Given the description of an element on the screen output the (x, y) to click on. 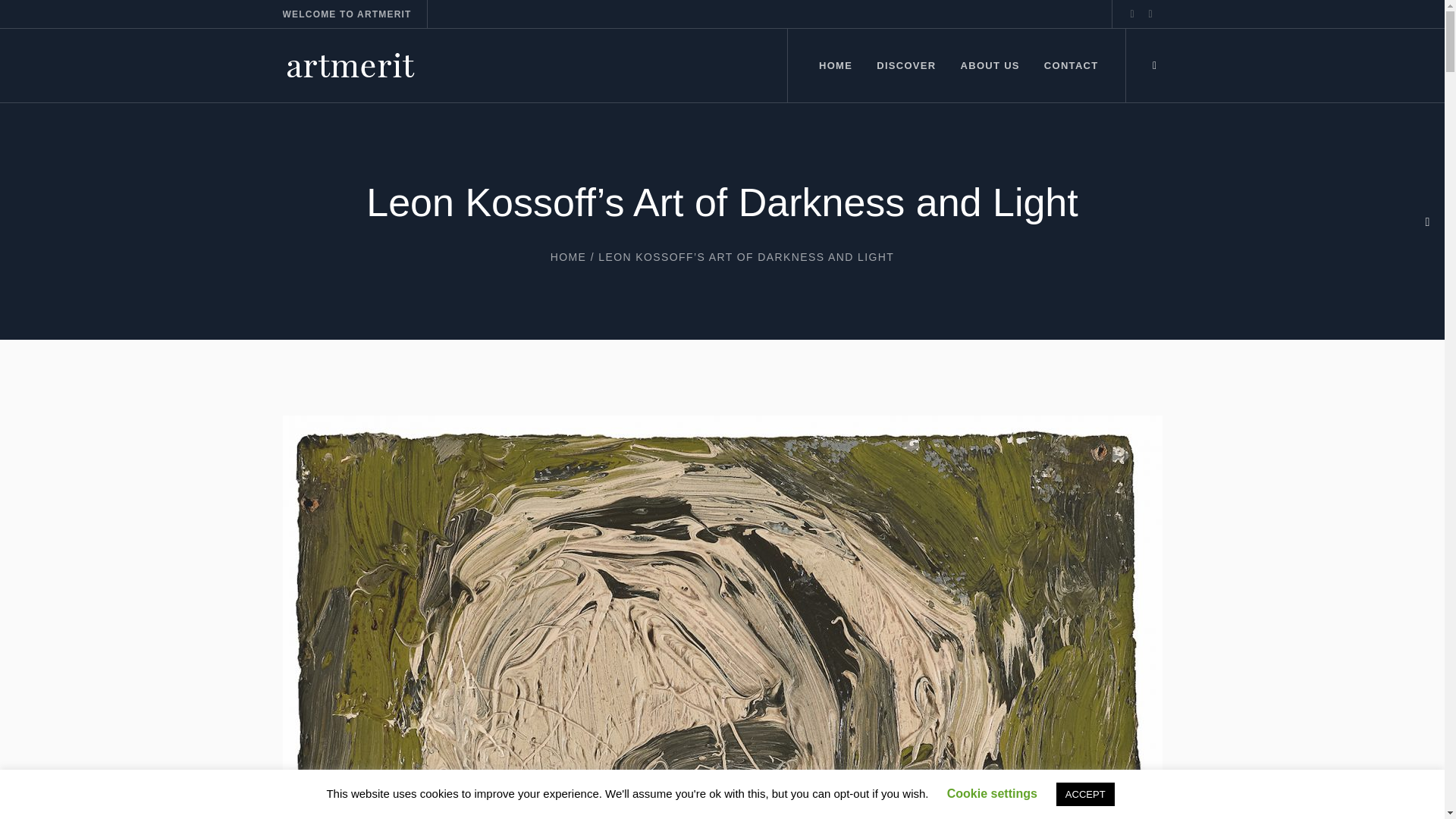
Cookie settings (991, 793)
Instagram (1132, 13)
Pinterest (1149, 13)
DISCOVER (905, 65)
CONTACT (1070, 65)
ABOUT US (989, 65)
HOME (568, 256)
